Given the description of an element on the screen output the (x, y) to click on. 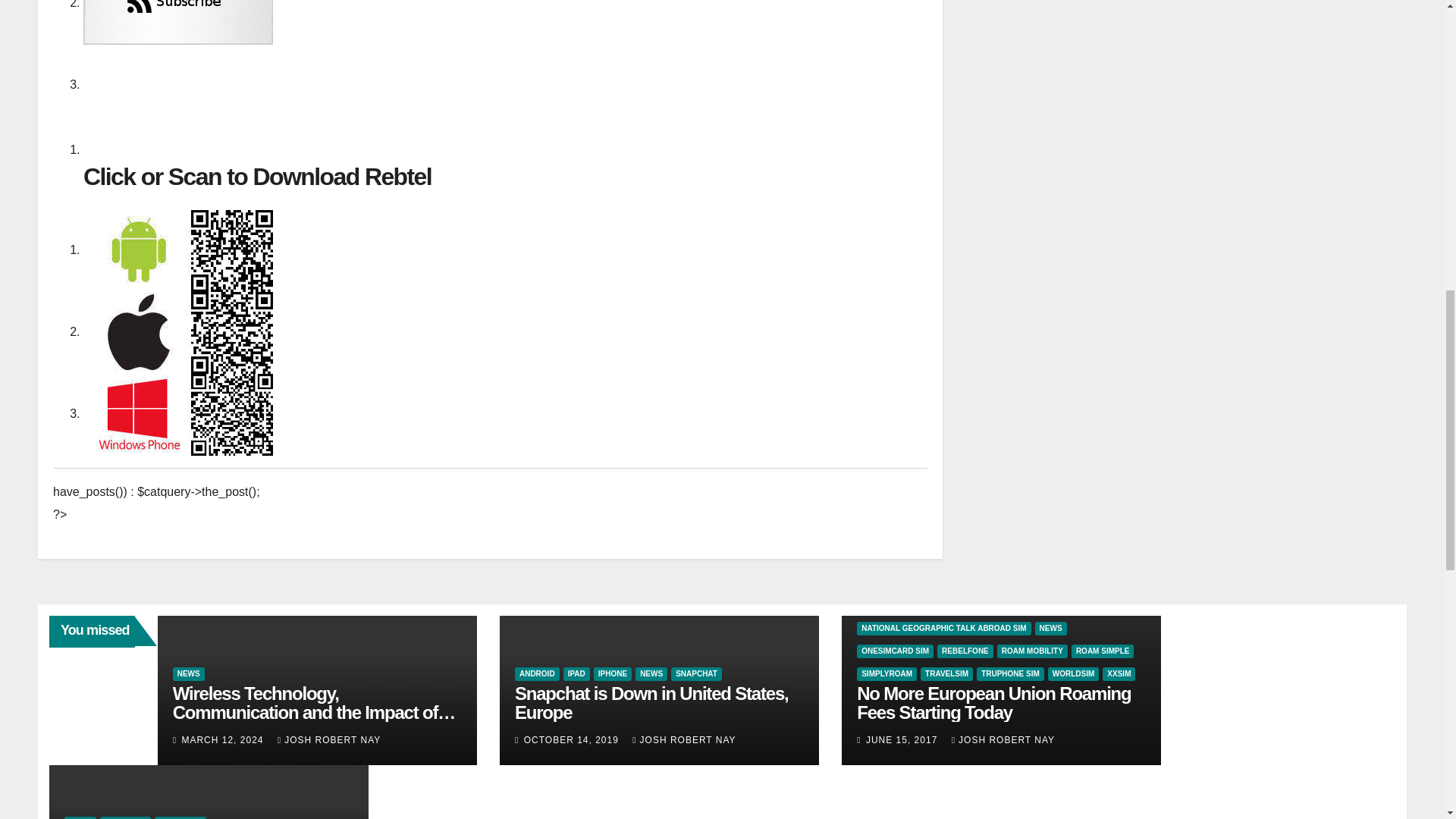
Permalink to: Snapchat is Down in United States, Europe (652, 702)
